Given the description of an element on the screen output the (x, y) to click on. 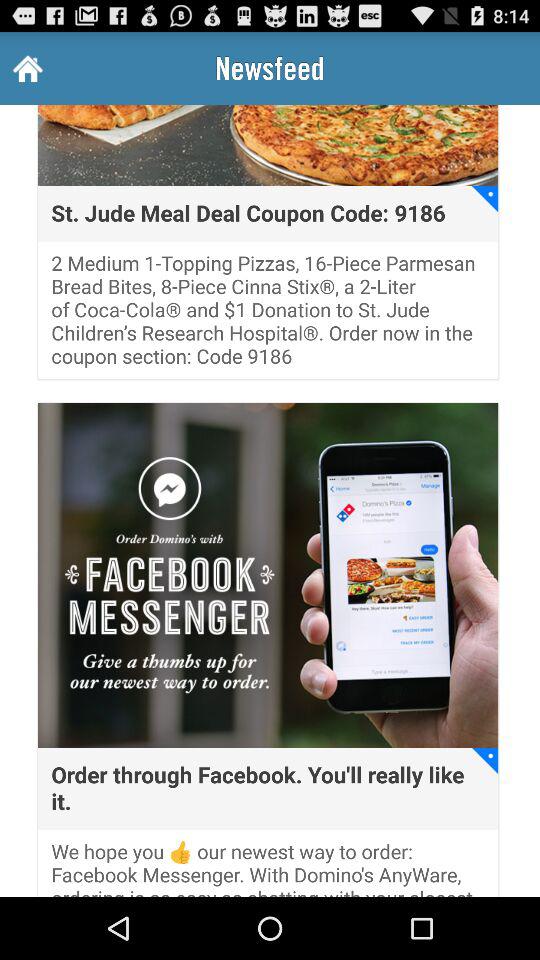
open the icon below the order through facebook item (268, 868)
